Given the description of an element on the screen output the (x, y) to click on. 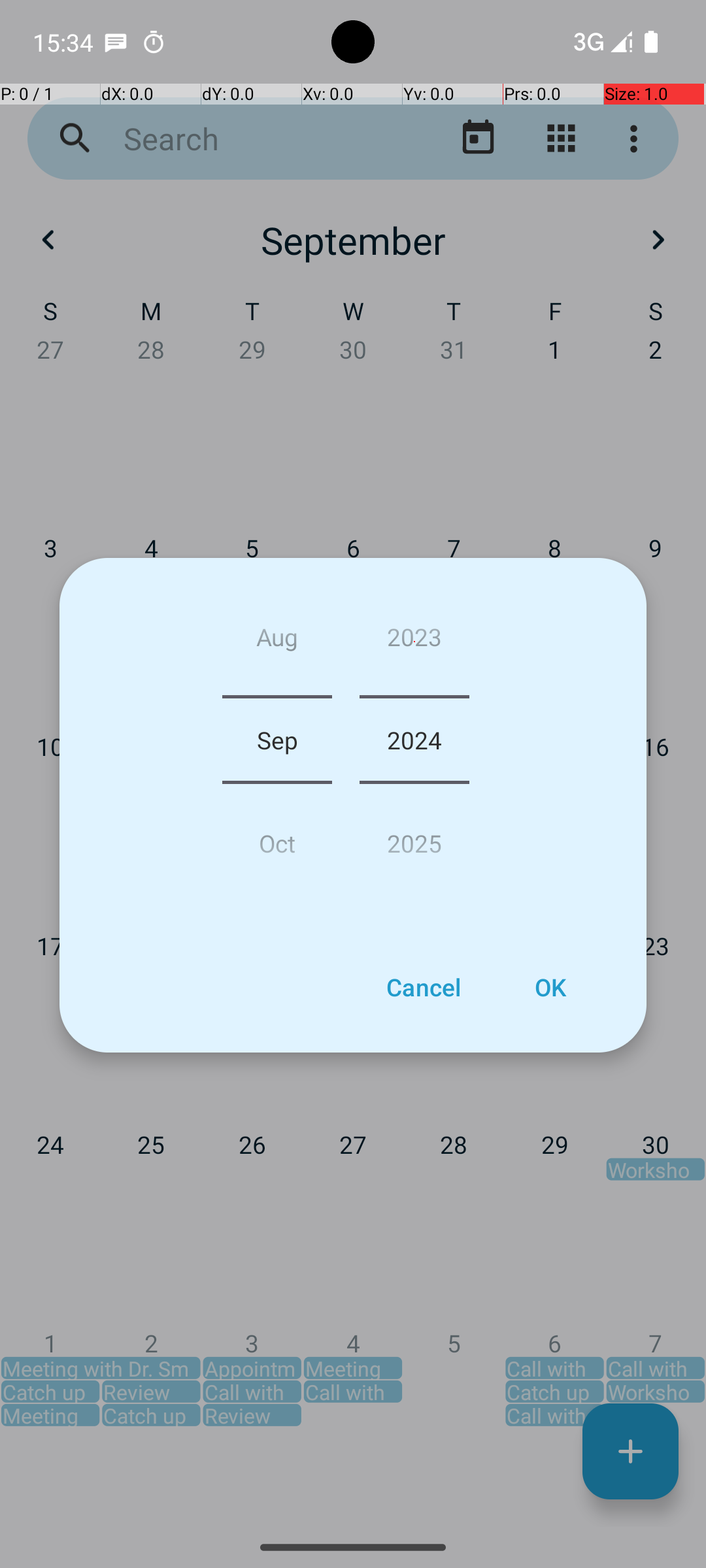
Aug Element type: android.widget.Button (277, 641)
